Given the description of an element on the screen output the (x, y) to click on. 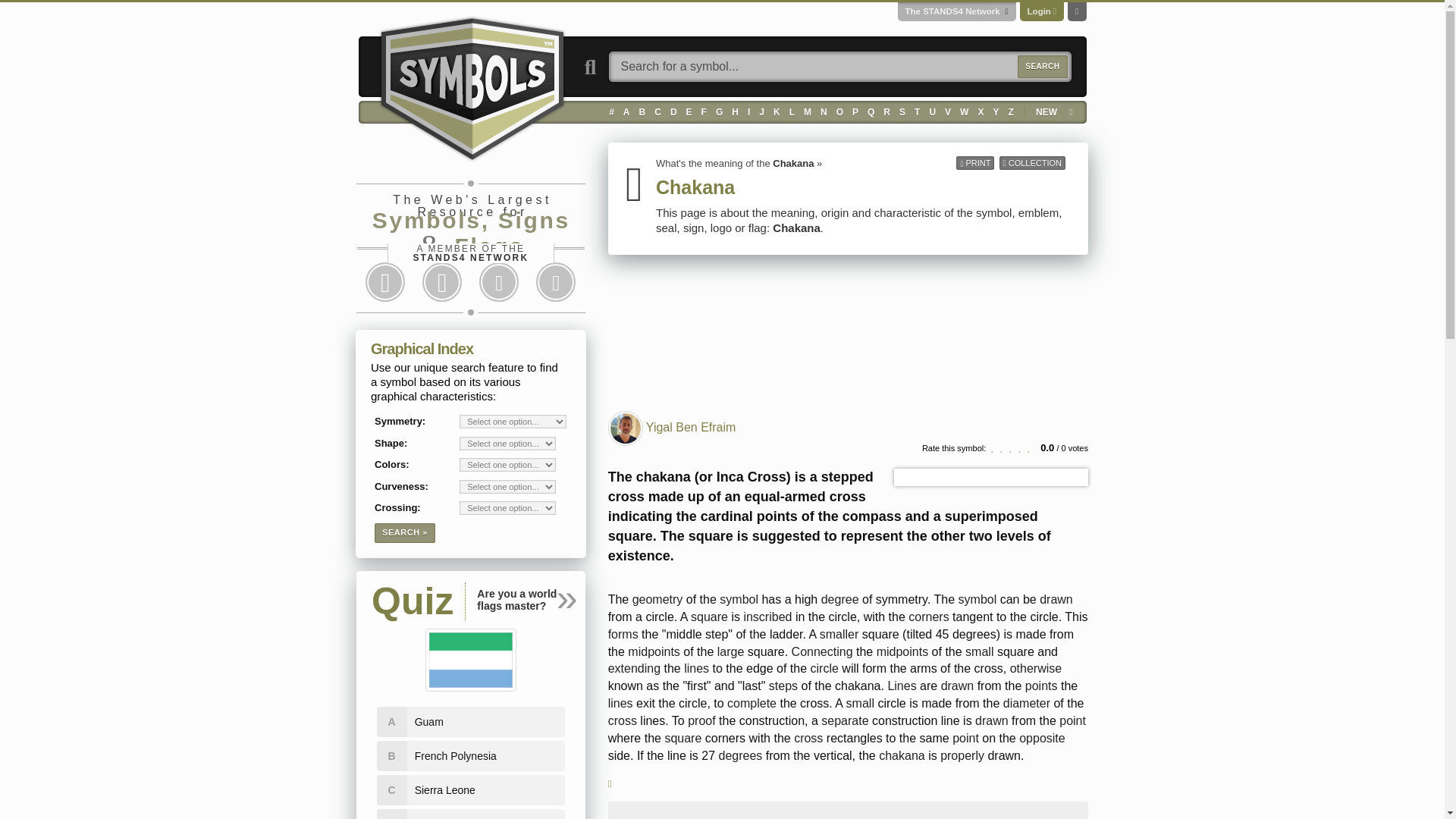
click to send Chakana to your printer (975, 162)
Symbols.com (471, 86)
SEARCH (1042, 66)
Yigal Ben Efraim (625, 427)
Login (1039, 10)
Yigal Ben Efraim (625, 428)
rate it (1012, 447)
click to add Chakana to your collection (1031, 162)
Yigal Ben Efraim (691, 427)
